Given the description of an element on the screen output the (x, y) to click on. 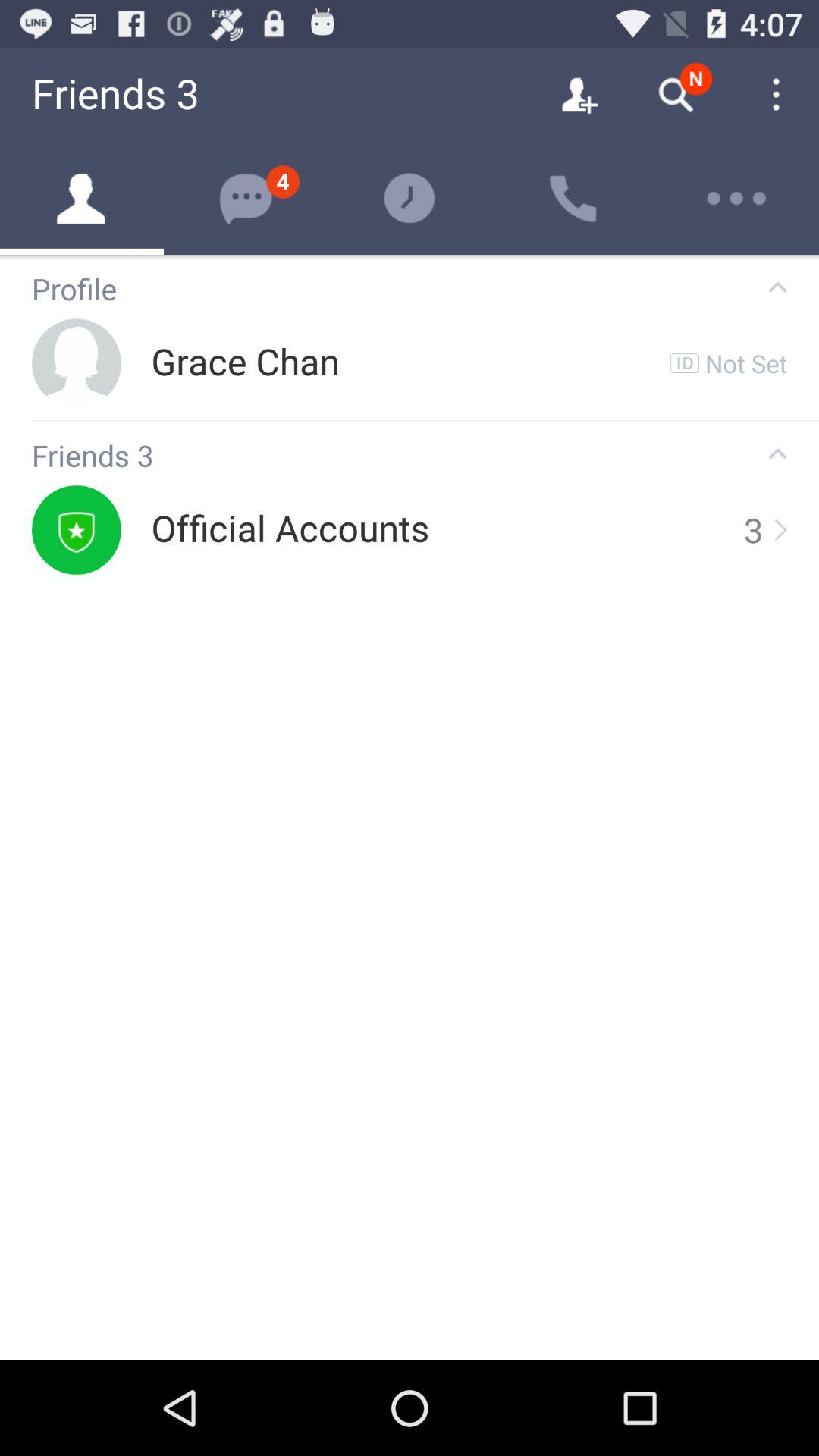
press not set item (746, 362)
